Given the description of an element on the screen output the (x, y) to click on. 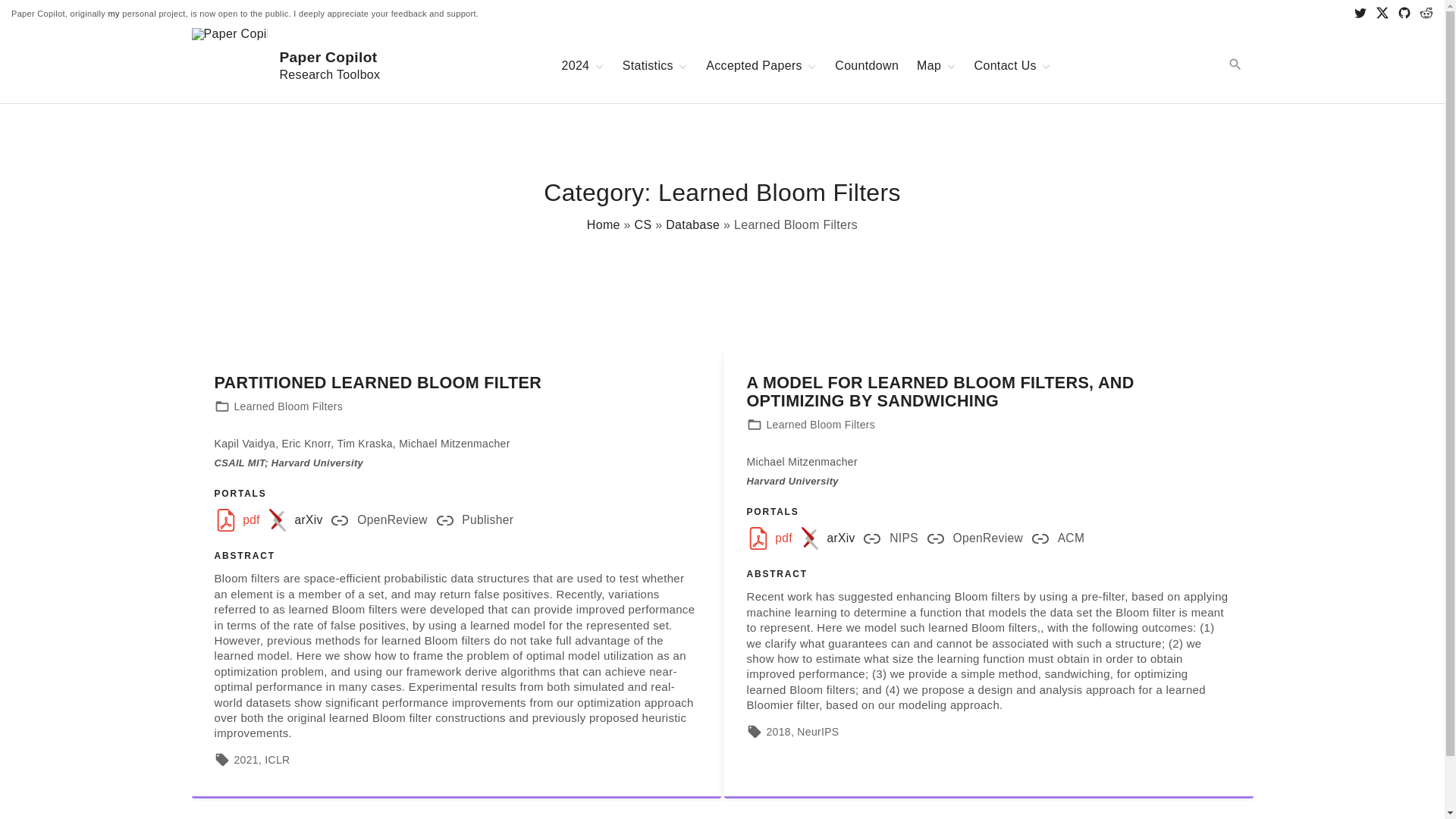
x (1382, 13)
twitter (290, 65)
reddit (1360, 13)
2024 (1425, 13)
Statistics (574, 65)
github-circle (649, 65)
my (1403, 13)
